Given the description of an element on the screen output the (x, y) to click on. 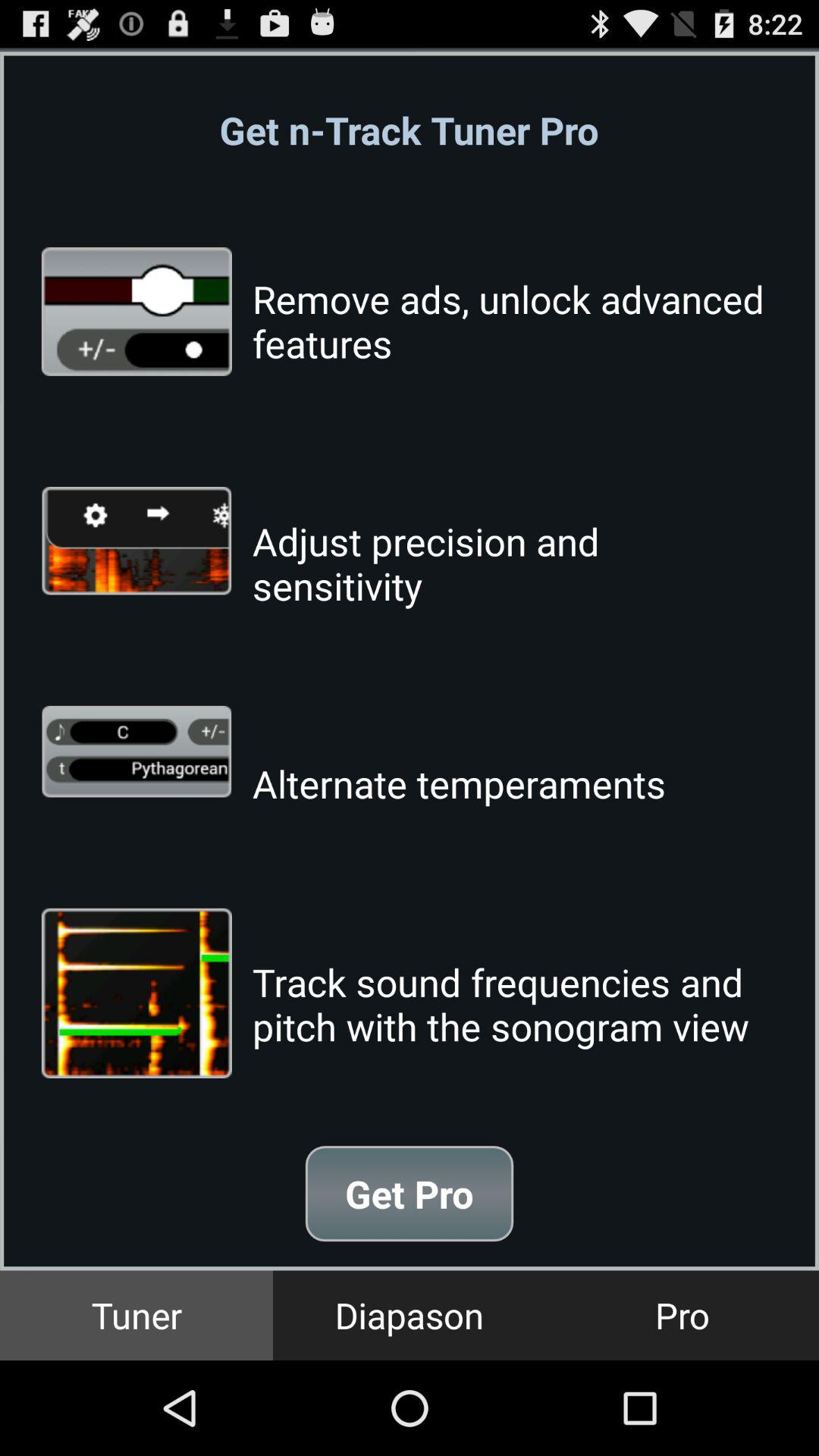
tap get n track (408, 130)
